Given the description of an element on the screen output the (x, y) to click on. 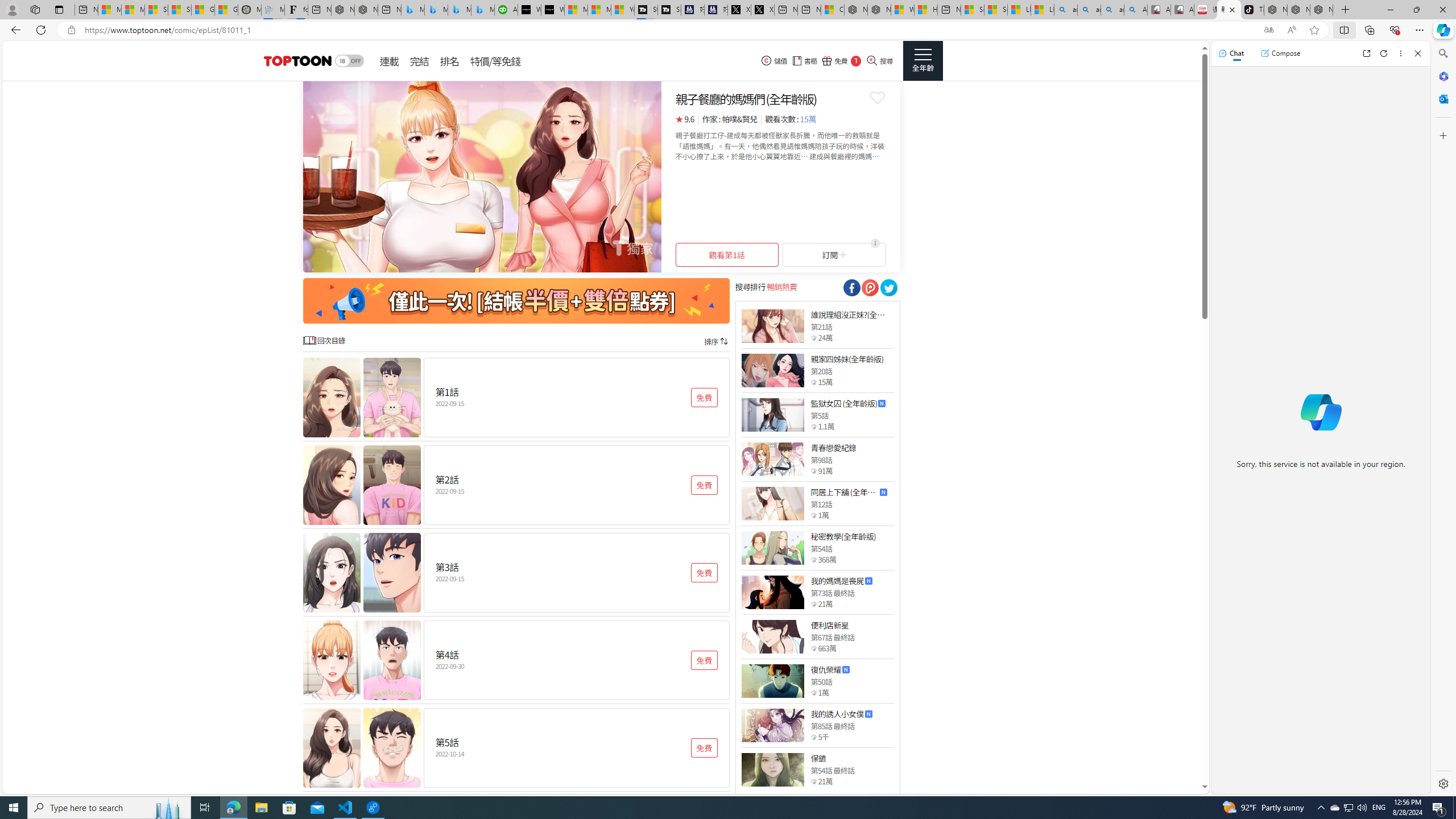
Class: side_menu_btn actionRightMenuBtn (922, 60)
Compose (1280, 52)
